Given the description of an element on the screen output the (x, y) to click on. 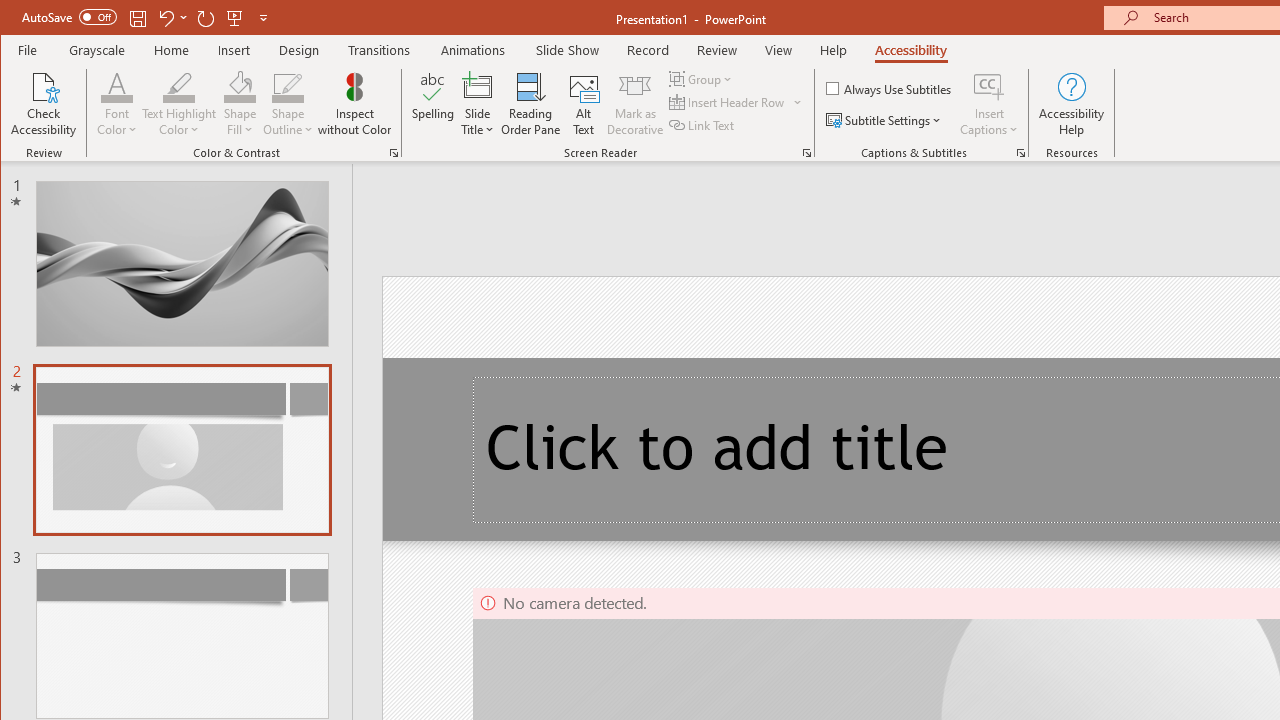
AutoSave (68, 16)
Captions & Subtitles (1020, 152)
Customize Quick Access Toolbar (263, 17)
File Tab (28, 49)
Shape Outline (288, 104)
Shape Fill (239, 104)
Shape Fill Orange, Accent 2 (239, 86)
Shape Outline Blue, Accent 1 (288, 86)
Insert (233, 50)
Alt Text (584, 104)
Font Color (116, 86)
Font Color (116, 104)
Slide Title (477, 86)
